Given the description of an element on the screen output the (x, y) to click on. 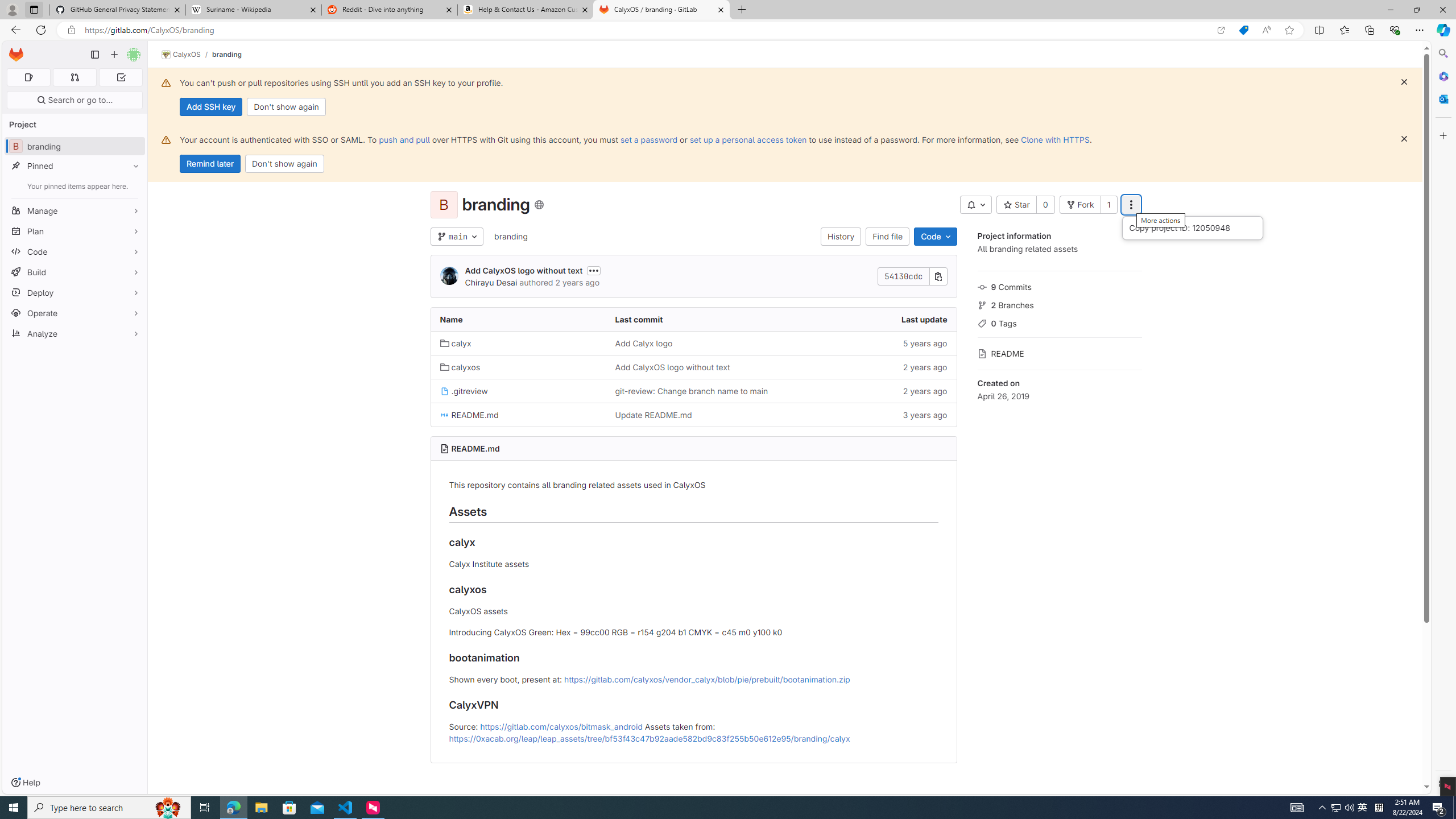
Add Calyx logo (693, 342)
Build (74, 271)
Assigned issues 0 (28, 76)
set a password (649, 139)
Class: s16 gl-alert-icon gl-alert-icon-no-title (165, 139)
Plan (74, 230)
